Given the description of an element on the screen output the (x, y) to click on. 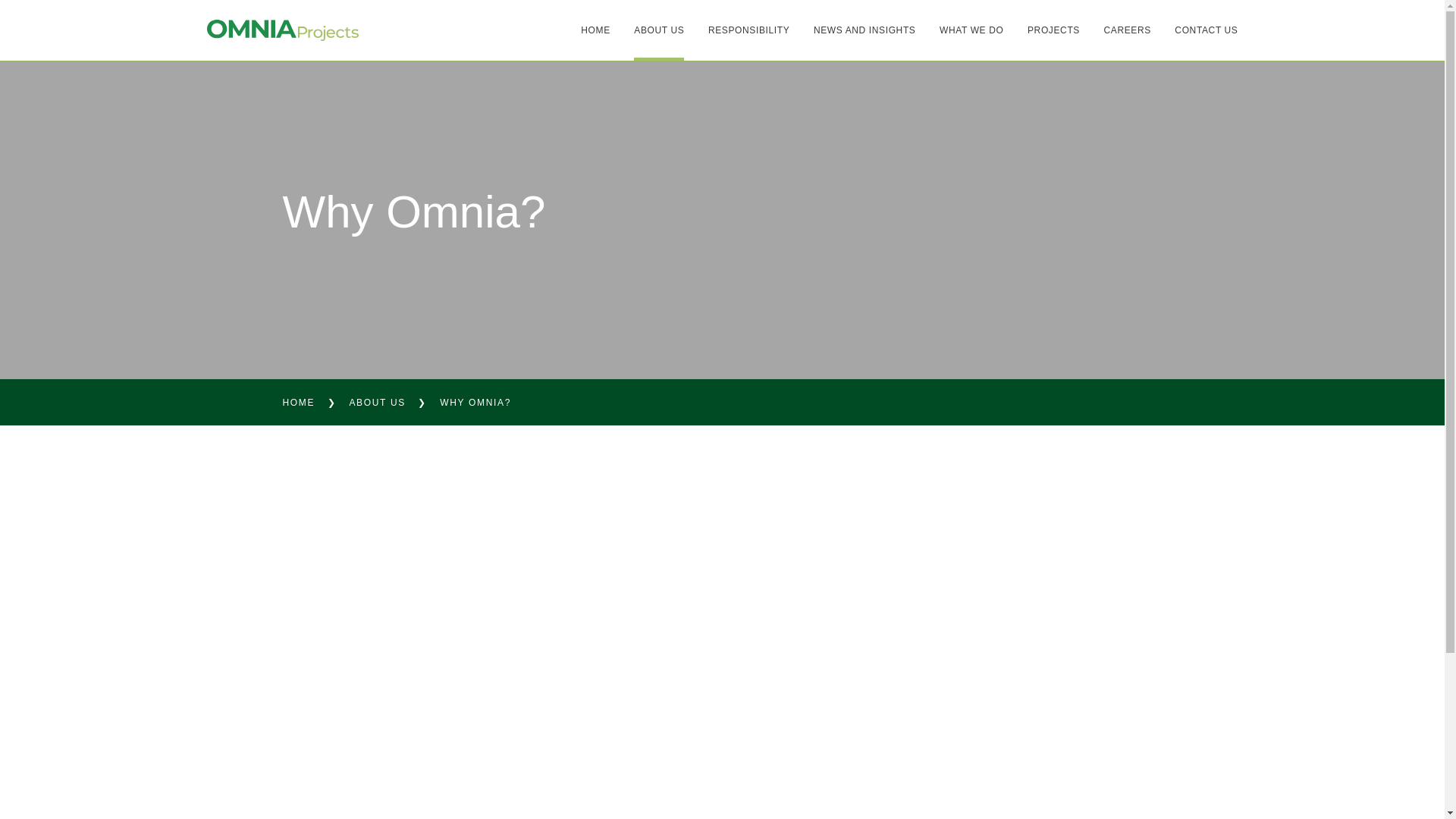
RESPONSIBILITY (748, 30)
WHAT WE DO (971, 30)
NEWS AND INSIGHTS (864, 30)
